Given the description of an element on the screen output the (x, y) to click on. 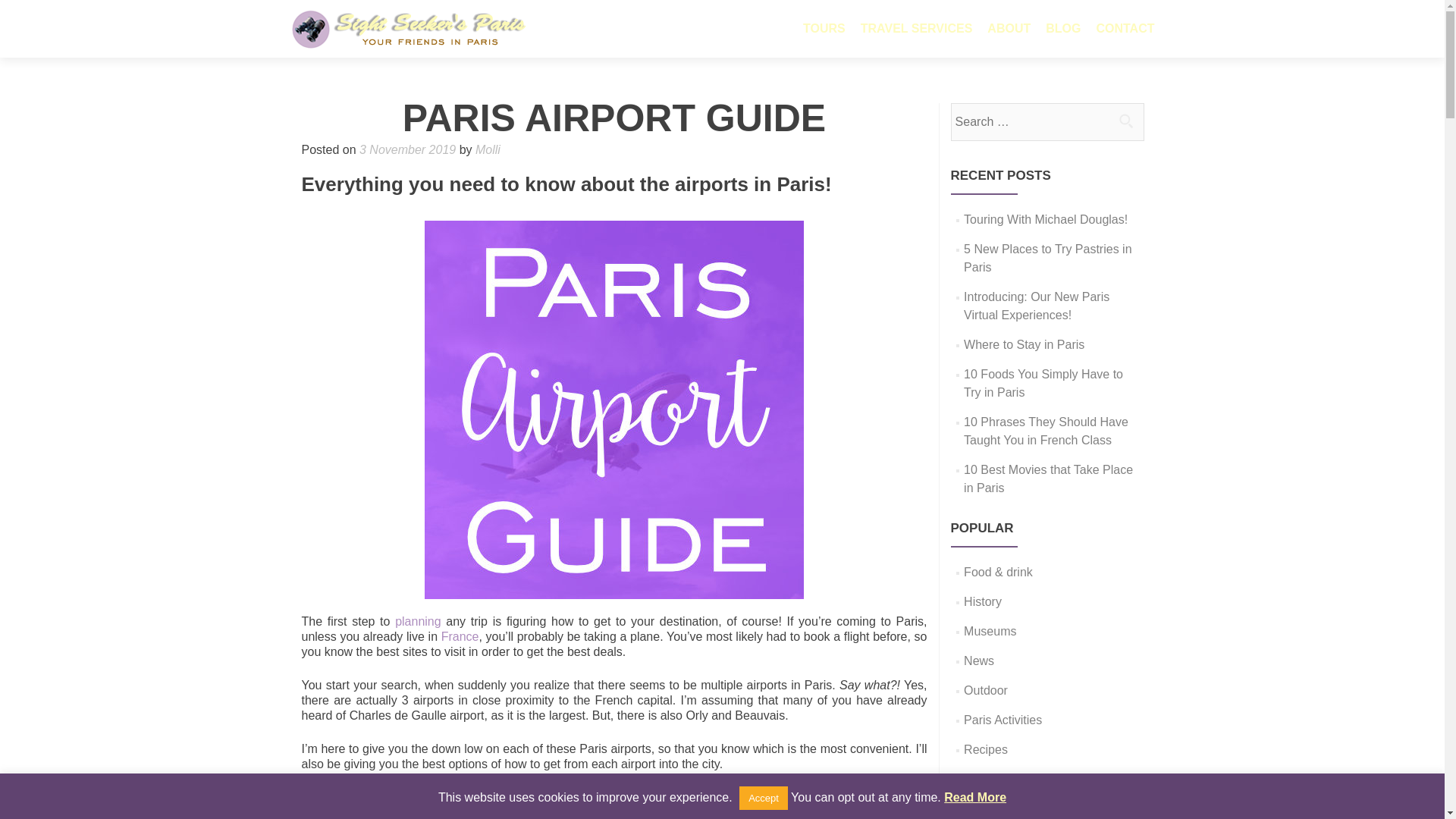
TRAVEL SERVICES (916, 28)
France (460, 635)
3 November 2019 (407, 149)
Search (1125, 120)
planning (417, 621)
ABOUT (1008, 28)
BLOG (1062, 28)
CONTACT (1125, 28)
TOURS (824, 28)
Search (1125, 120)
Molli (488, 149)
